Given the description of an element on the screen output the (x, y) to click on. 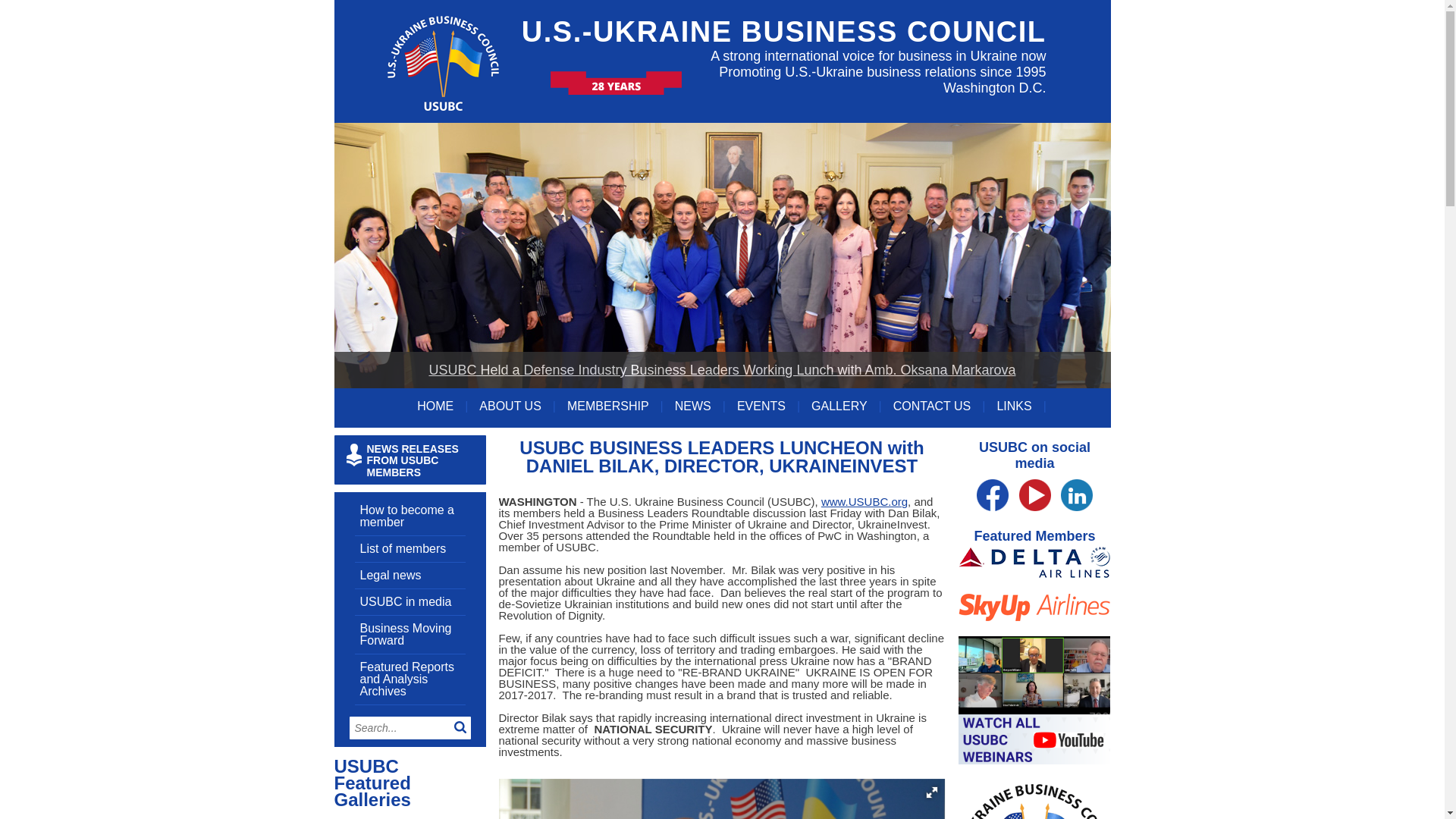
LINKS (1020, 406)
How to become a member (406, 515)
ABOUT US (517, 406)
SkyUp Airlines (1033, 650)
EVENTS (767, 406)
MEMBERSHIP (615, 406)
List of members (402, 548)
USUBC on LinkedIn (1077, 519)
GALLERY (846, 406)
USUBC on Youtube (1035, 519)
HOME (441, 406)
Legal news (389, 574)
Delta Airlines (1033, 585)
Recordings of all USUBC Webinars (1033, 791)
NEWS (700, 406)
